Given the description of an element on the screen output the (x, y) to click on. 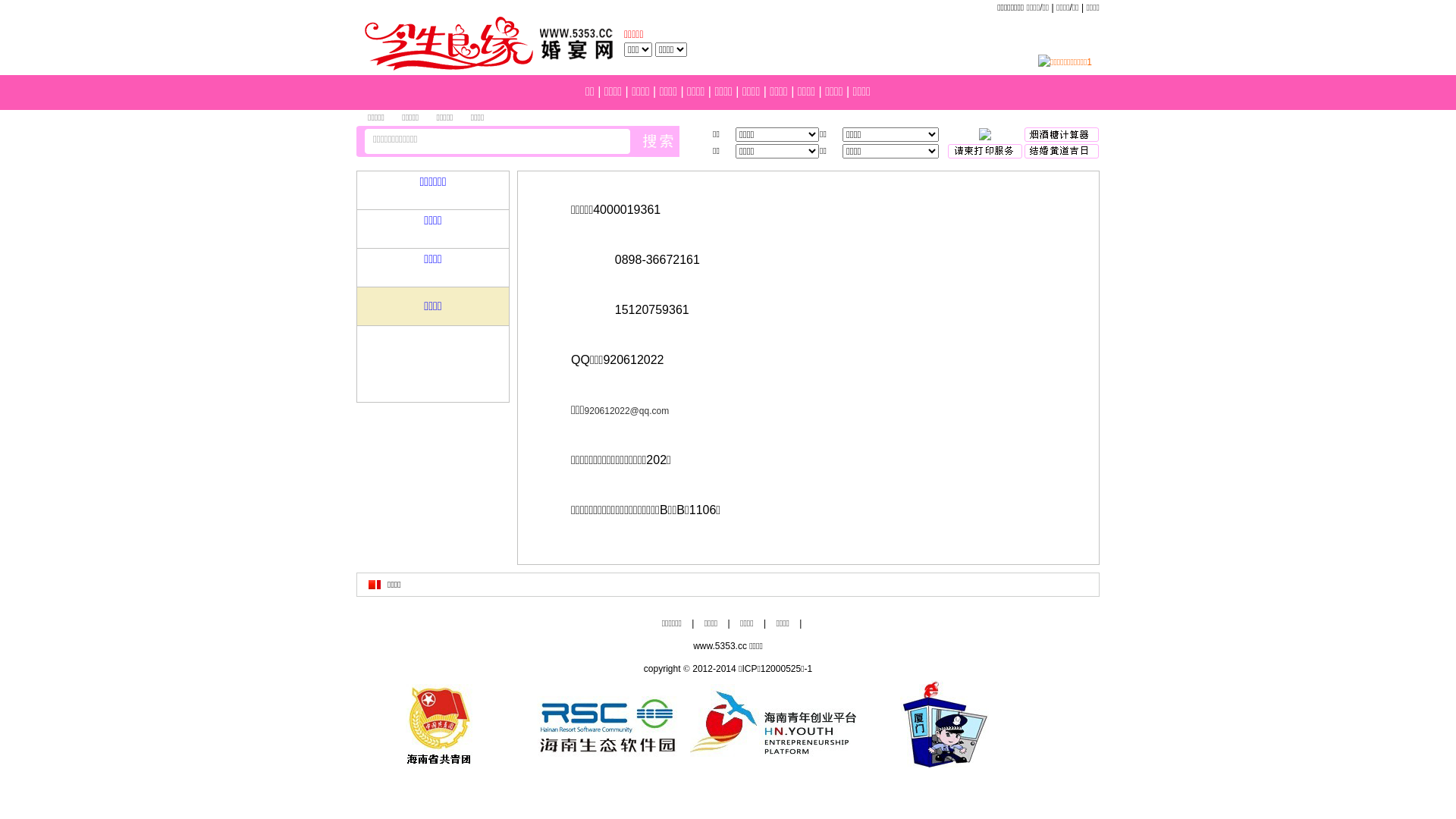
920612022@qq.com Element type: text (626, 410)
